Given the description of an element on the screen output the (x, y) to click on. 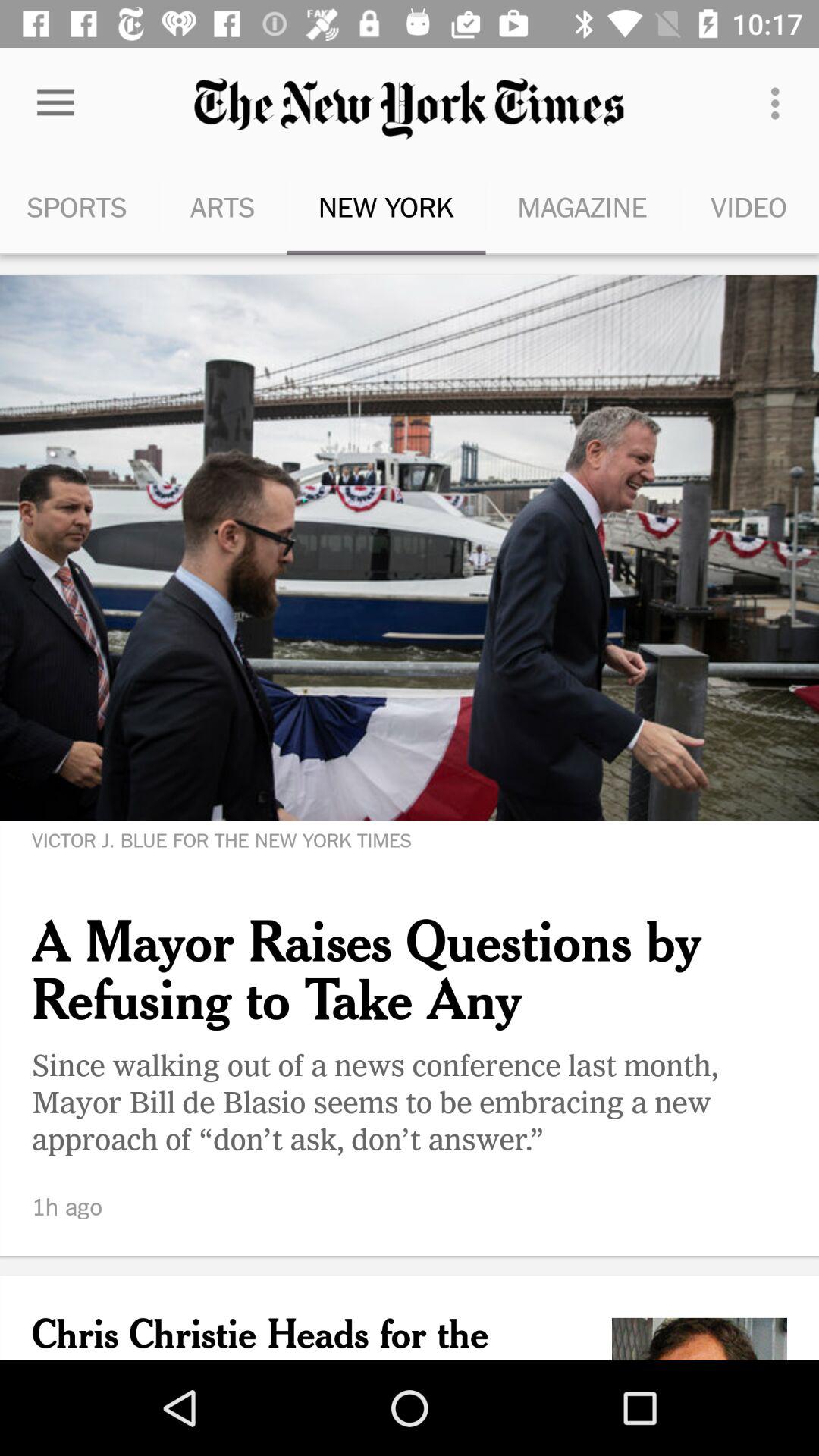
turn on the icon to the left of arts icon (79, 206)
